Given the description of an element on the screen output the (x, y) to click on. 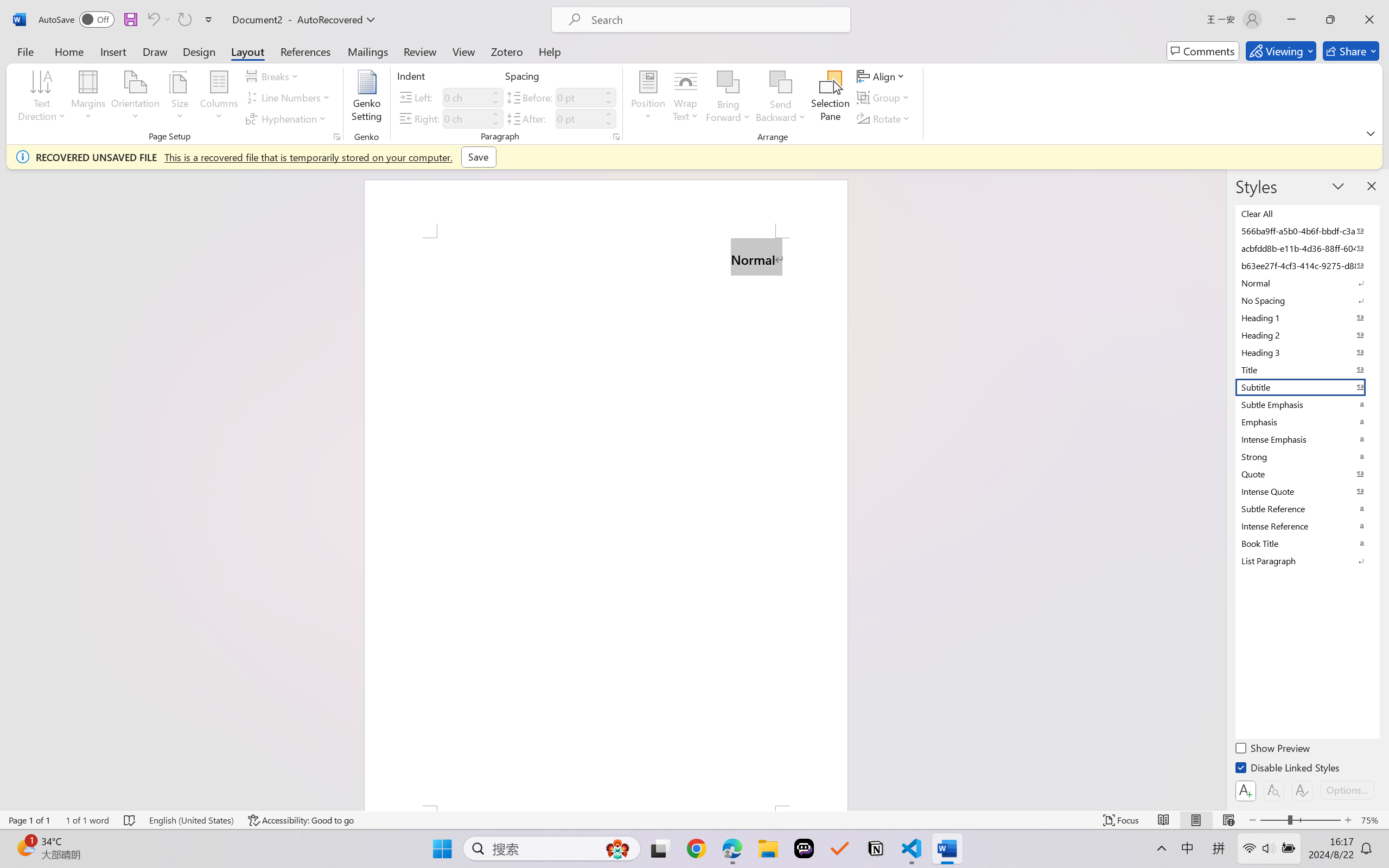
No Spacing (1306, 300)
Heading 3 (1306, 352)
Title (1306, 369)
Class: MsoCommandBar (694, 819)
Rotate (884, 118)
Options... (1346, 789)
Page Setup... (336, 136)
Can't Repeat (184, 19)
